Given the description of an element on the screen output the (x, y) to click on. 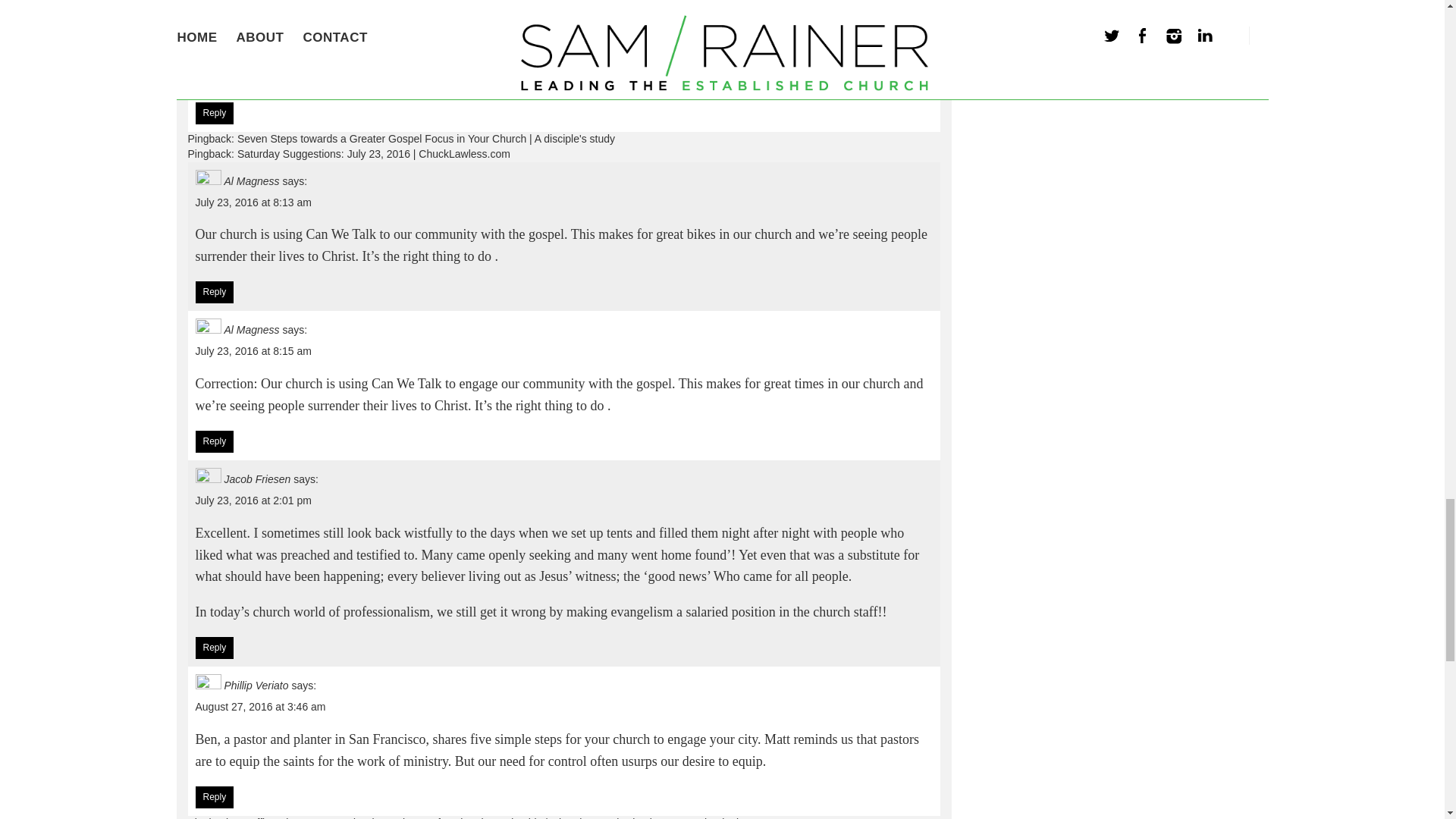
Reply (214, 441)
Al Magness (251, 329)
August 27, 2016 at 3:46 am (260, 706)
July 23, 2016 at 8:13 am (253, 202)
July 23, 2016 at 8:15 am (253, 350)
July 23, 2016 at 2:01 pm (253, 500)
Reply (214, 797)
Reply (214, 113)
Jacob Friesen (256, 479)
Reply (214, 292)
Al Magness (251, 181)
Phillip Veriato (256, 685)
Reply (214, 648)
